Given the description of an element on the screen output the (x, y) to click on. 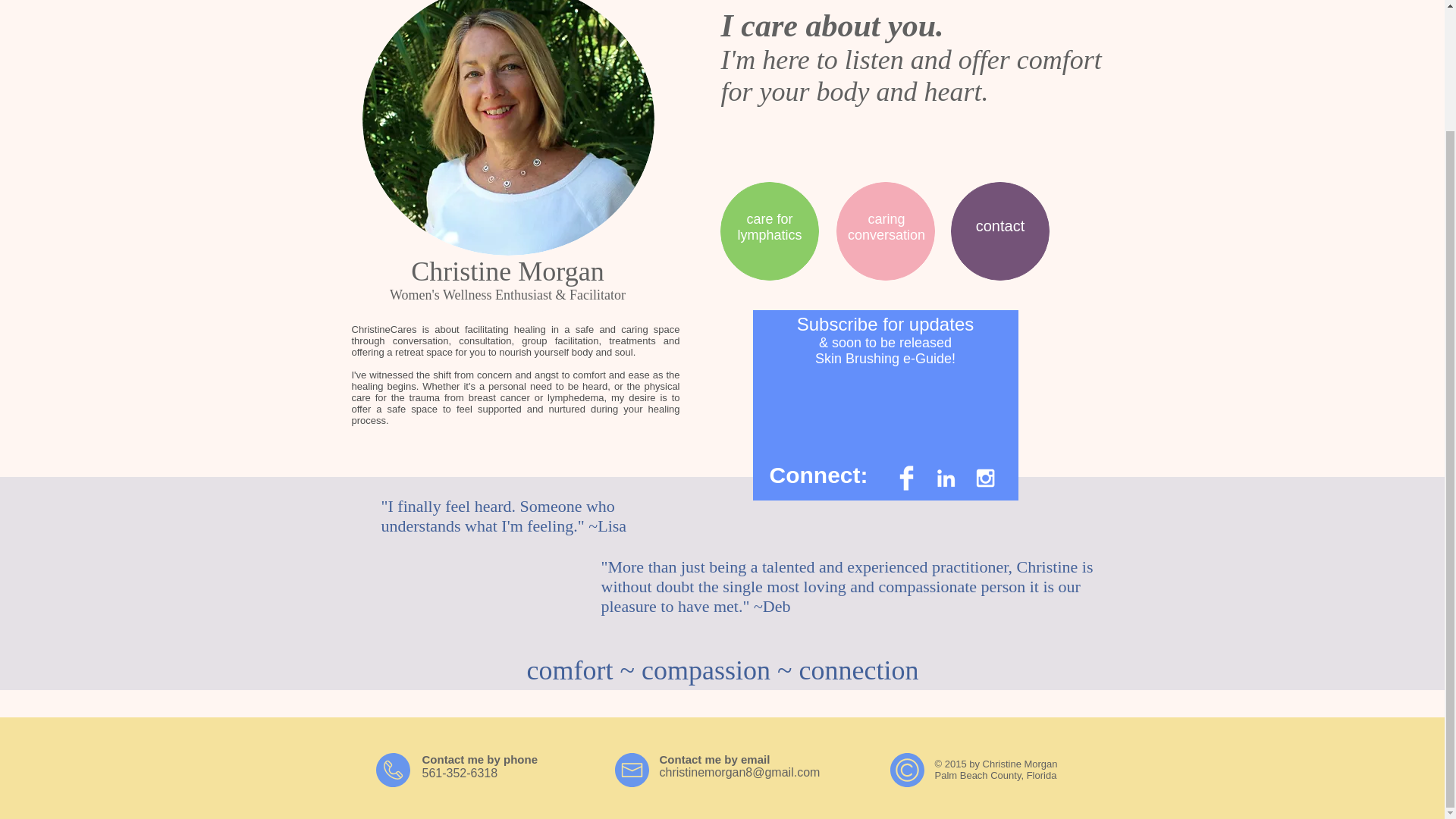
Contact me by email (714, 758)
caring (885, 218)
care for (768, 218)
contact (1000, 225)
lymphatics (769, 234)
conversation (885, 234)
